Given the description of an element on the screen output the (x, y) to click on. 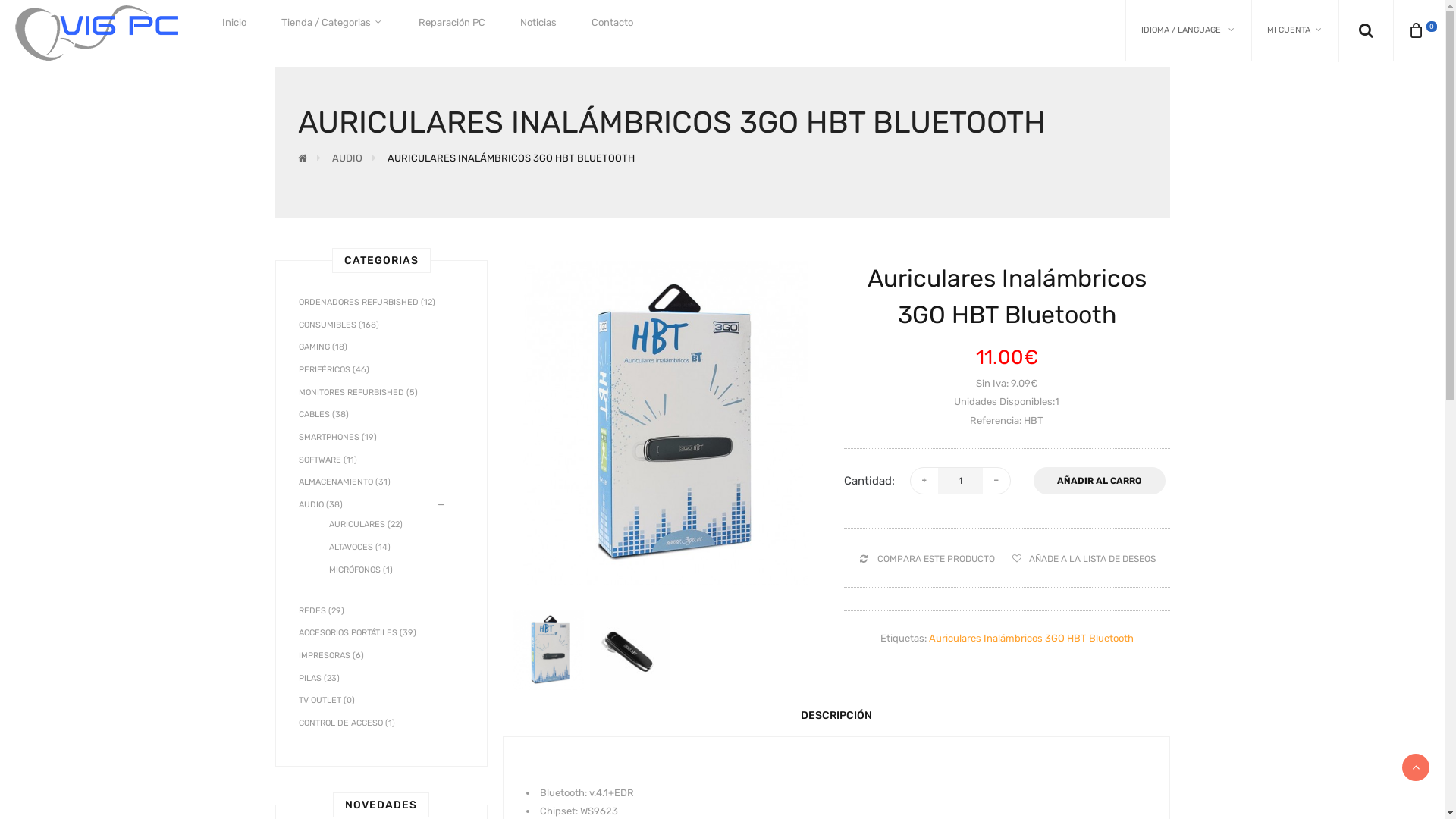
CONTROL DE ACCESO (1) Element type: text (346, 723)
TV OUTLET (0) Element type: text (326, 700)
REDES (29) Element type: text (321, 610)
GAMING (18) Element type: text (322, 346)
ALTAVOCES (14) Element type: text (344, 547)
SMARTPHONES (19) Element type: text (337, 437)
COMPARA ESTE PRODUCTO Element type: text (925, 558)
Contacto Element type: text (612, 22)
CABLES (38) Element type: text (323, 414)
AUDIO (38) Element type: text (320, 504)
Inicio Element type: text (233, 22)
AURICULARES (22) Element type: text (350, 524)
0 Element type: text (1422, 30)
Noticias Element type: text (538, 22)
SOFTWARE (11) Element type: text (327, 459)
CONSUMIBLES (168) Element type: text (338, 324)
IDIOMA / LANGUAGE Element type: text (1188, 30)
PILAS (23) Element type: text (318, 678)
AUDIO Element type: text (347, 157)
IMPRESORAS (6) Element type: text (331, 655)
ORDENADORES REFURBISHED (12) Element type: text (366, 302)
Tienda / Categorias Element type: text (332, 22)
MONITORES REFURBISHED (5) Element type: text (357, 392)
ALMACENAMIENTO (31) Element type: text (344, 481)
